Given the description of an element on the screen output the (x, y) to click on. 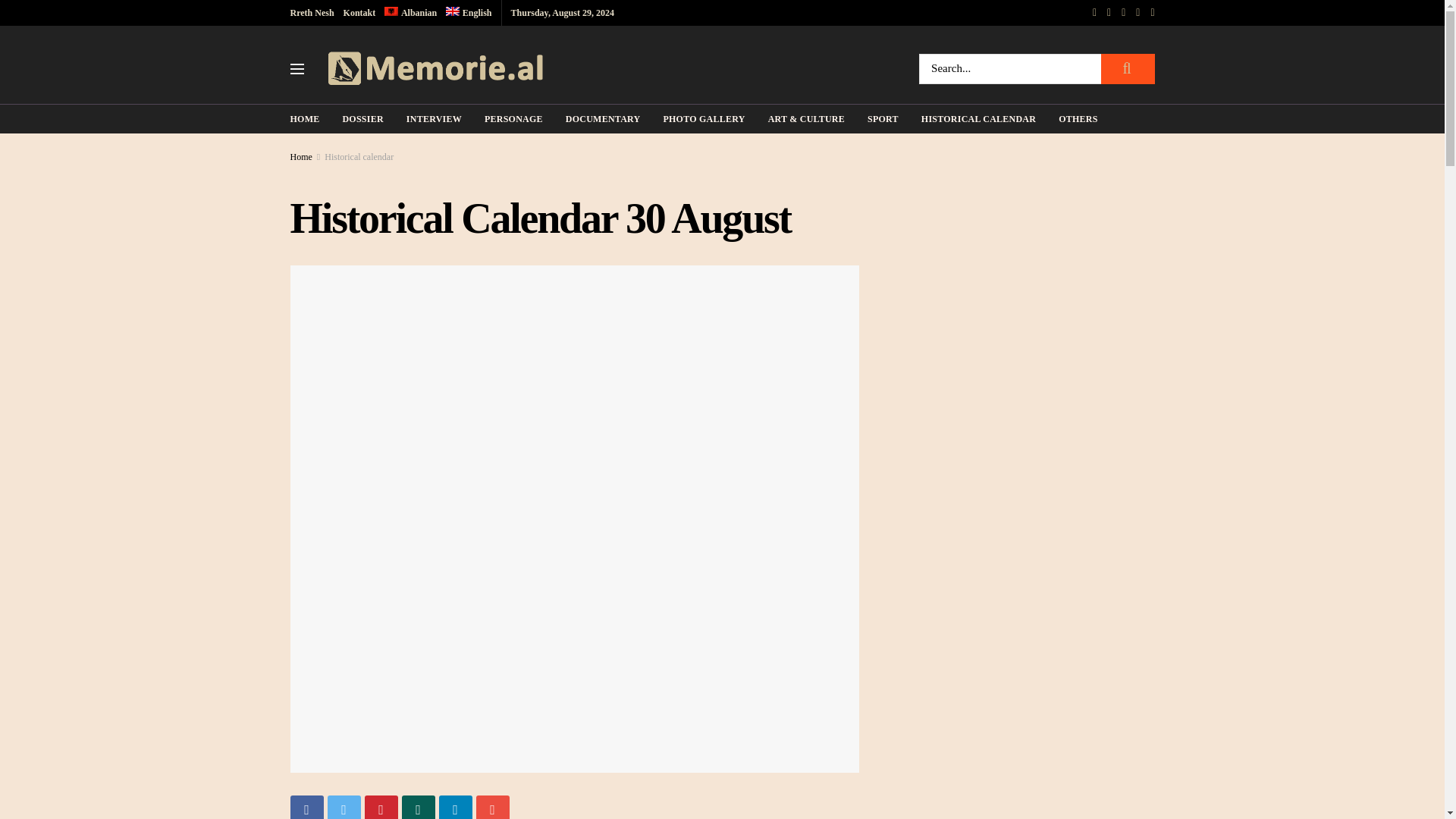
Home (300, 156)
DOCUMENTARY (603, 118)
OTHERS (1077, 118)
PHOTO GALLERY (703, 118)
HOME (303, 118)
Kontakt (359, 12)
DOSSIER (362, 118)
Albanian (410, 12)
HISTORICAL CALENDAR (978, 118)
PERSONAGE (513, 118)
